Given the description of an element on the screen output the (x, y) to click on. 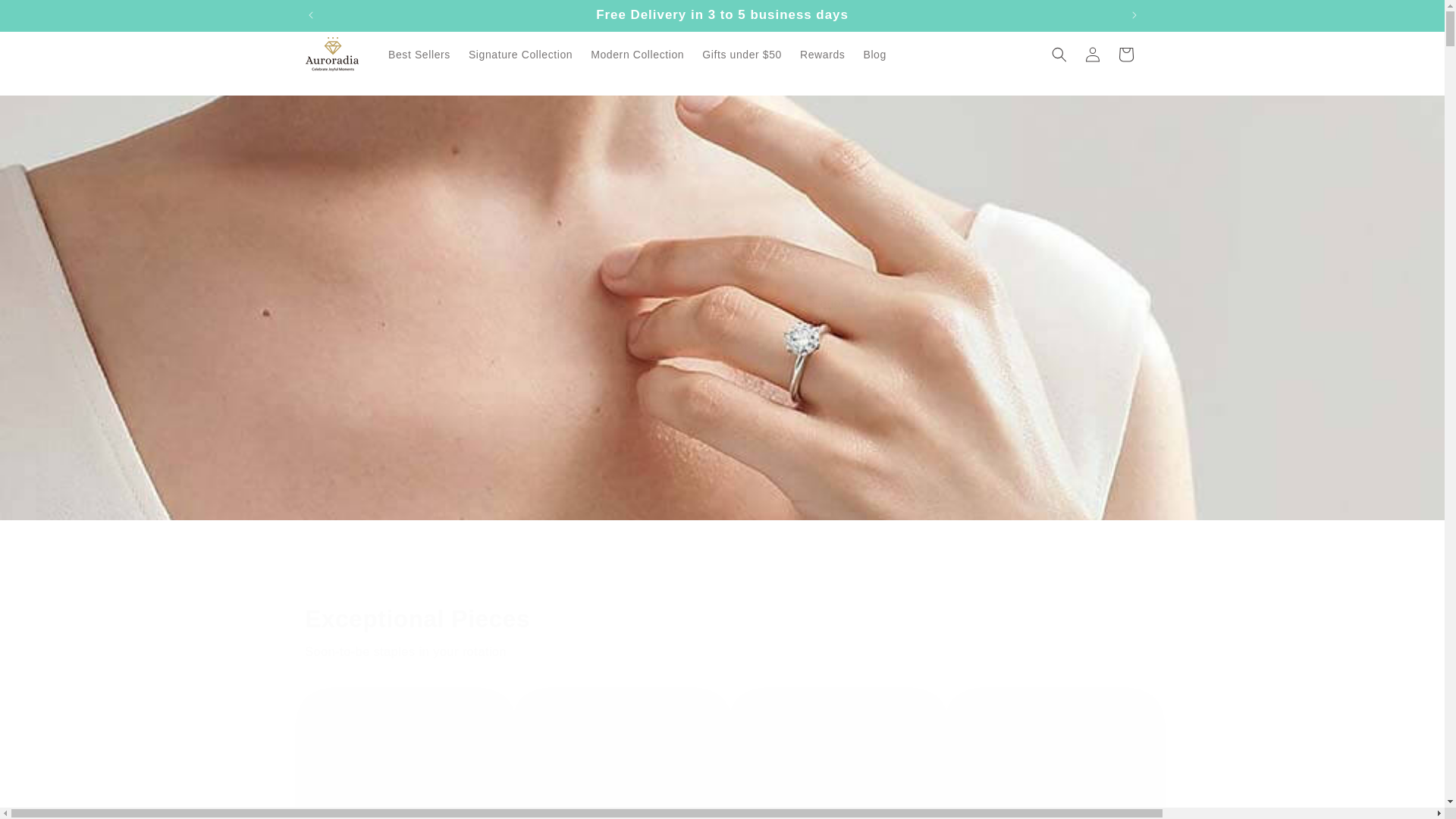
Rewards (821, 54)
SHOP COLLECTION (721, 347)
Modern Collection (636, 54)
Cart (1124, 54)
Signature Collection (520, 54)
Soon-to-be staples in your rotation (721, 652)
Blog (874, 54)
SHOP BEST SELLERS (721, 390)
Exceptional Pieces (721, 619)
